Given the description of an element on the screen output the (x, y) to click on. 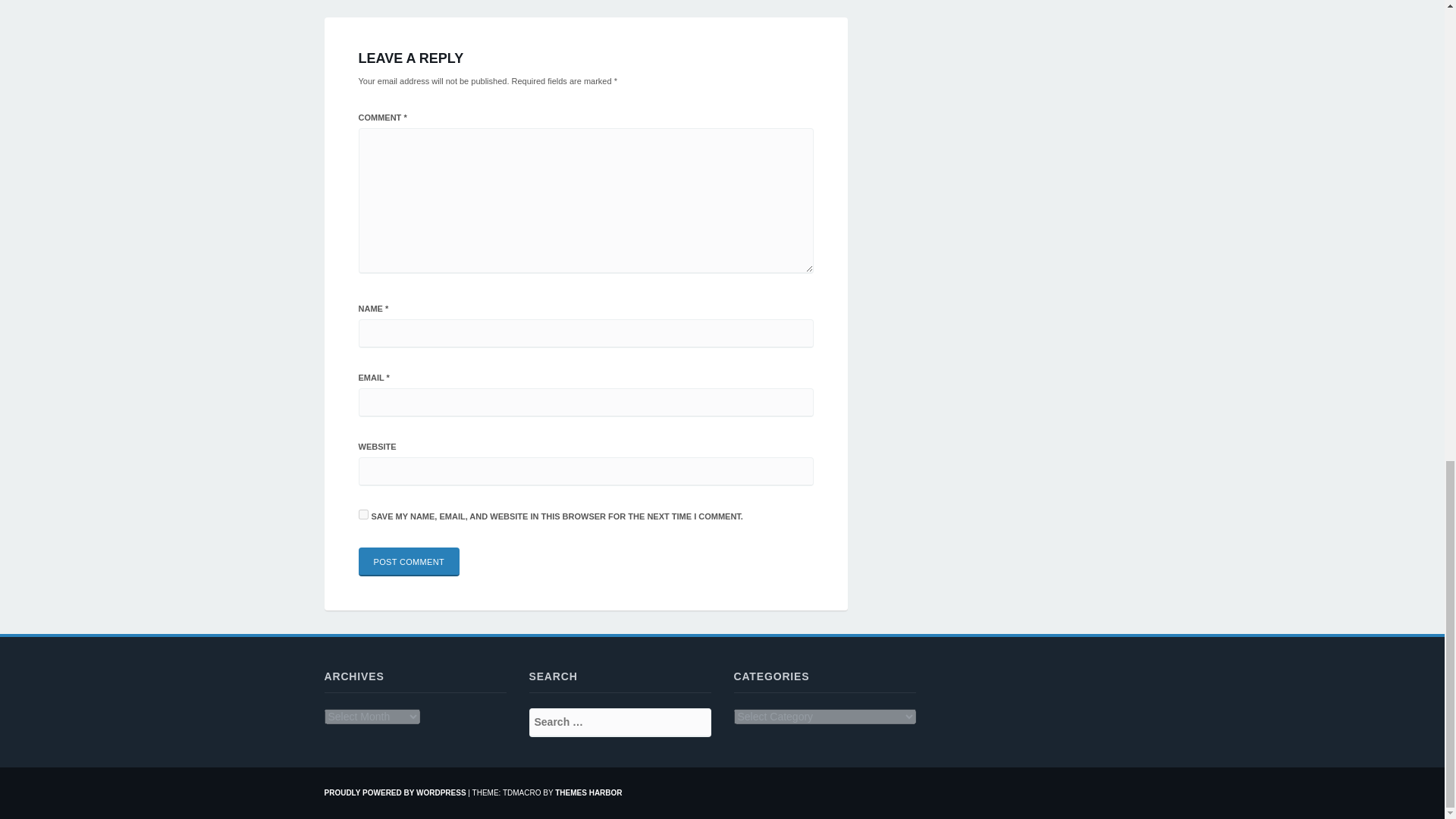
yes (363, 514)
Post Comment (409, 561)
THEMES HARBOR (587, 792)
PROUDLY POWERED BY WORDPRESS (394, 792)
Post Comment (409, 561)
